Given the description of an element on the screen output the (x, y) to click on. 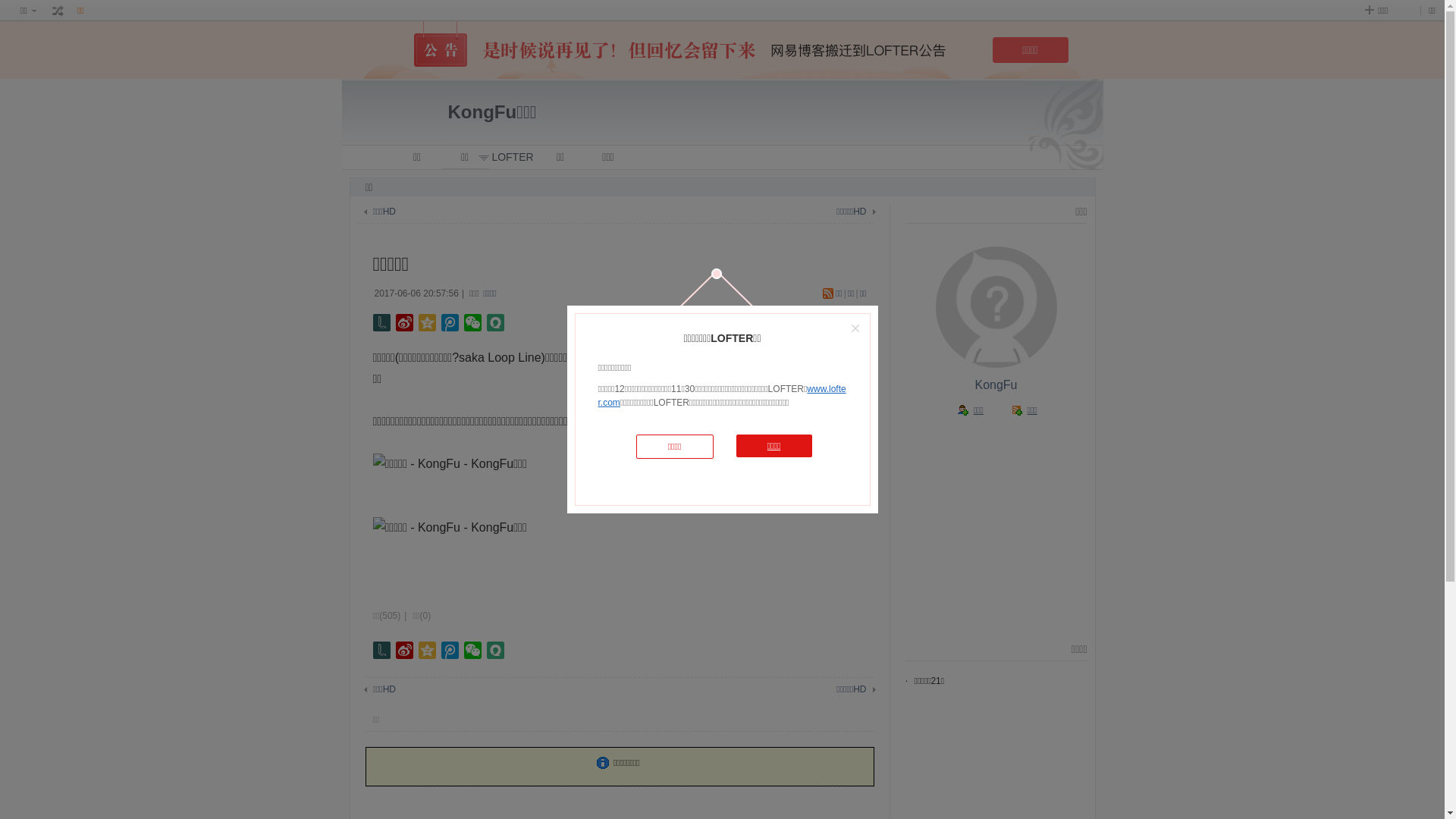
  Element type: text (58, 10)
LOFTER Element type: text (512, 156)
KongFu Element type: text (995, 384)
www.lofter.com Element type: text (721, 395)
